Given the description of an element on the screen output the (x, y) to click on. 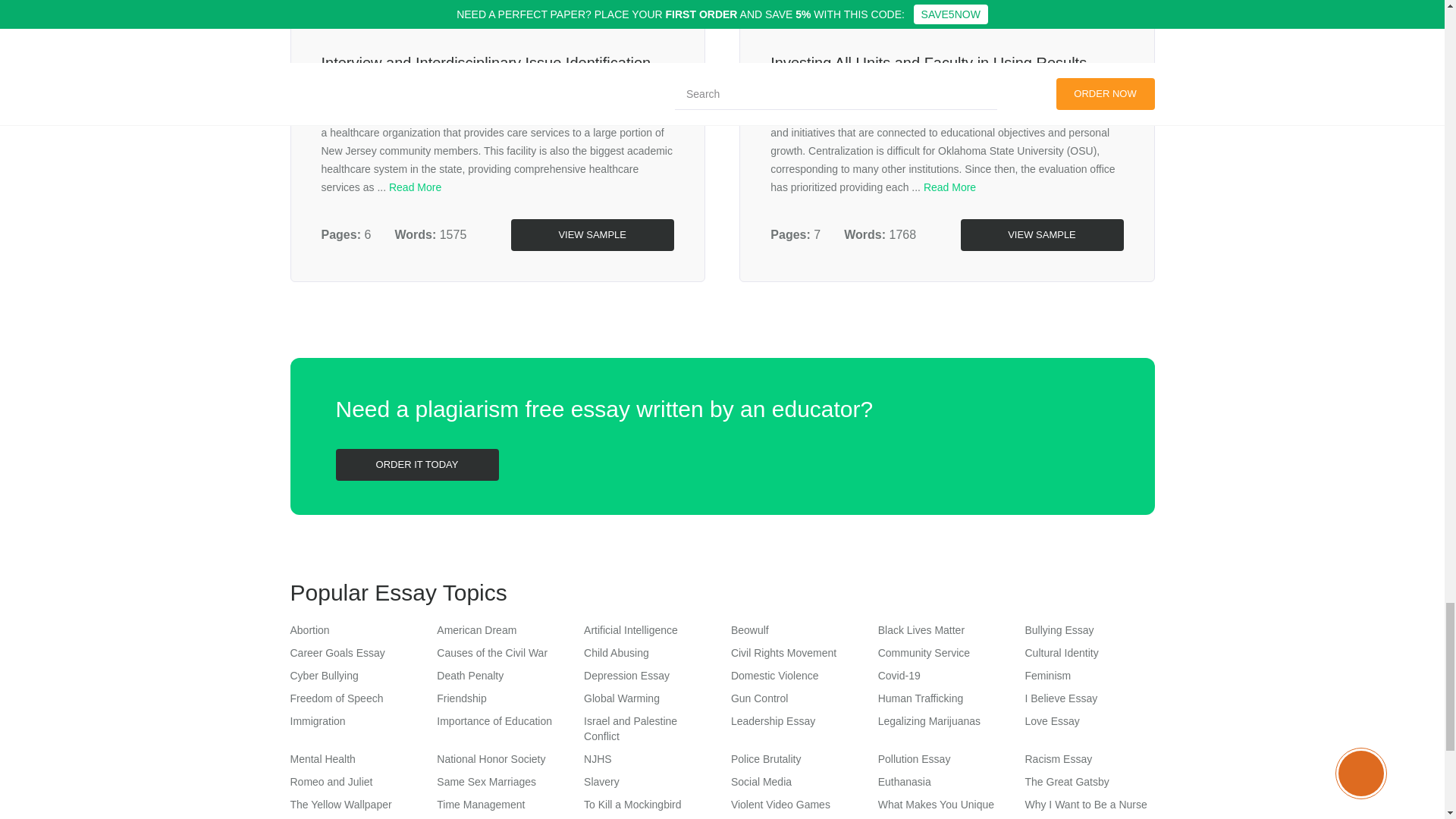
Investing All Units and Faculty in Using Results (928, 62)
Read More (949, 186)
Read More (414, 186)
Abortion (309, 630)
ORDER IT TODAY (415, 464)
Interview and Interdisciplinary Issue Identification (485, 62)
VIEW SAMPLE (592, 234)
VIEW SAMPLE (1040, 234)
